Given the description of an element on the screen output the (x, y) to click on. 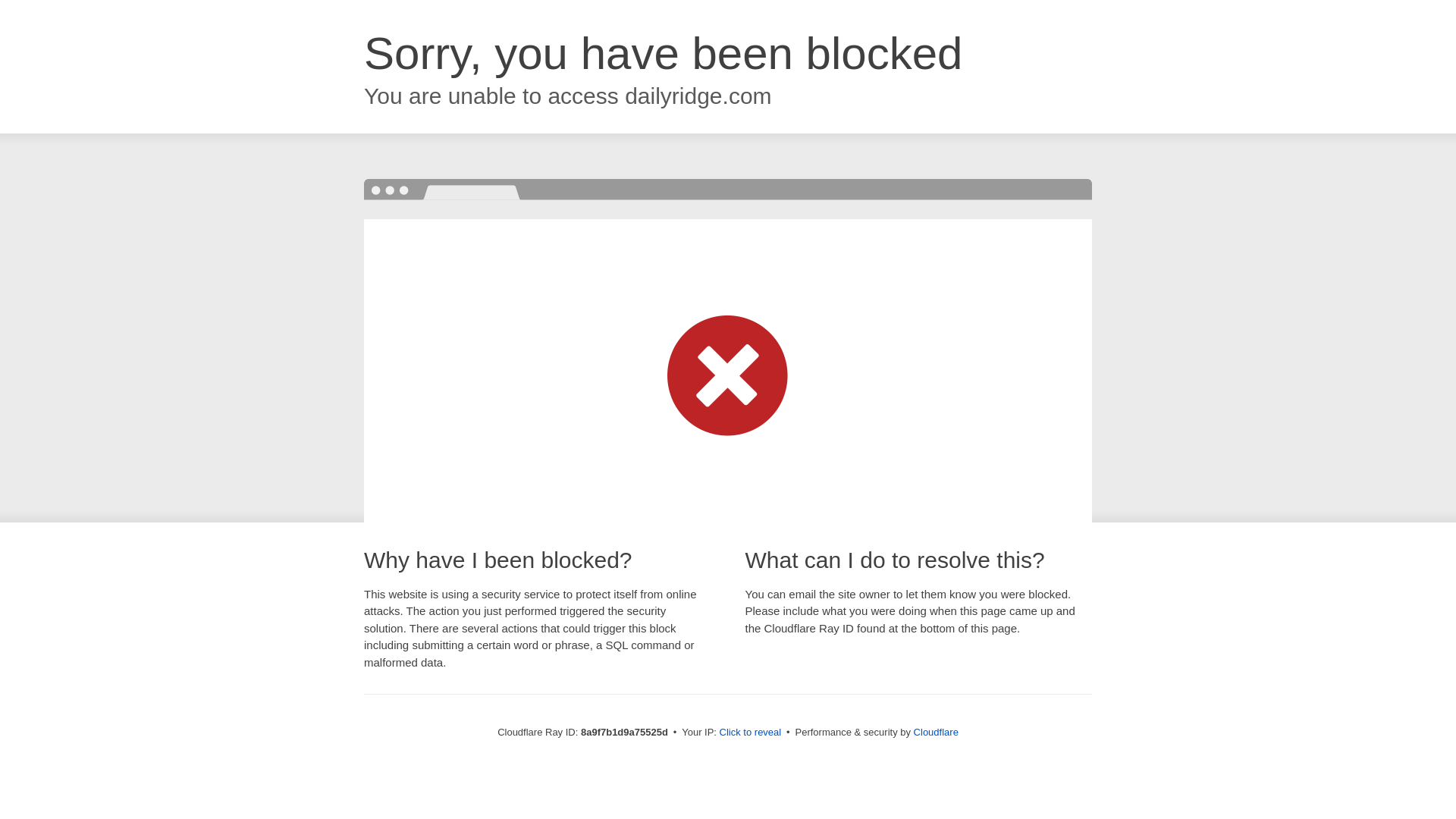
Click to reveal (750, 732)
Cloudflare (936, 731)
